Given the description of an element on the screen output the (x, y) to click on. 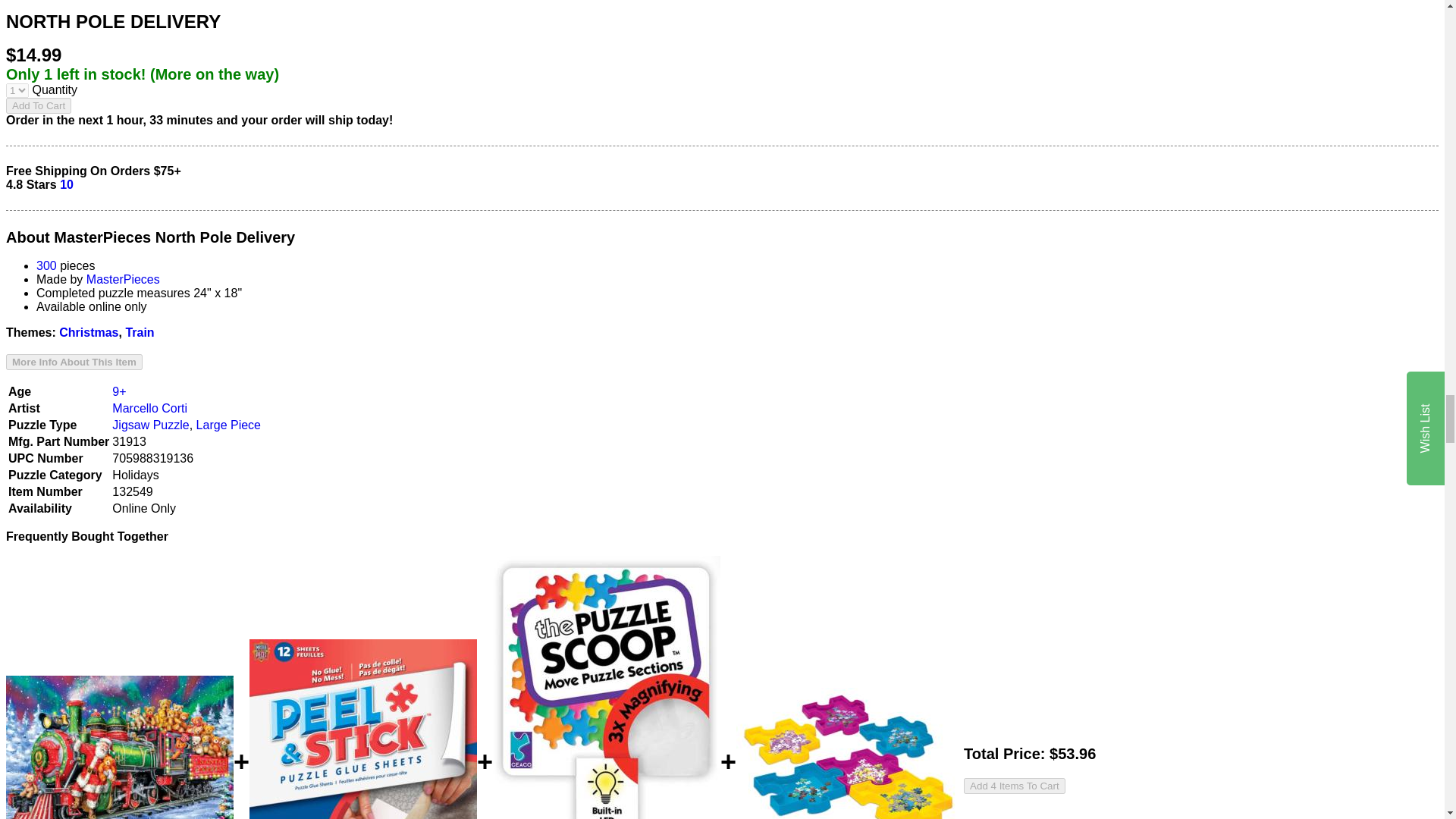
Quantity (17, 90)
